Given the description of an element on the screen output the (x, y) to click on. 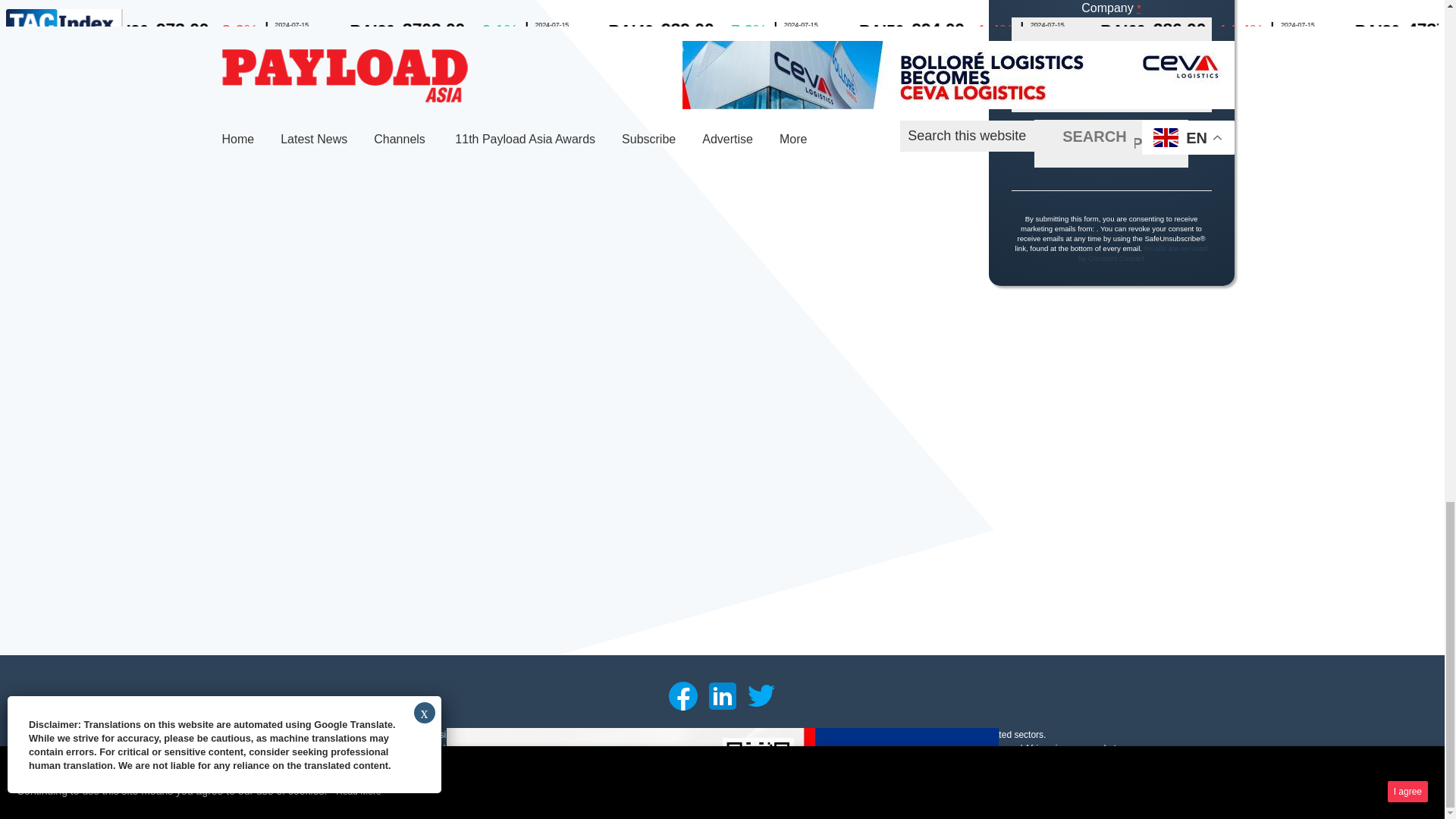
Sign up (1110, 143)
